Given the description of an element on the screen output the (x, y) to click on. 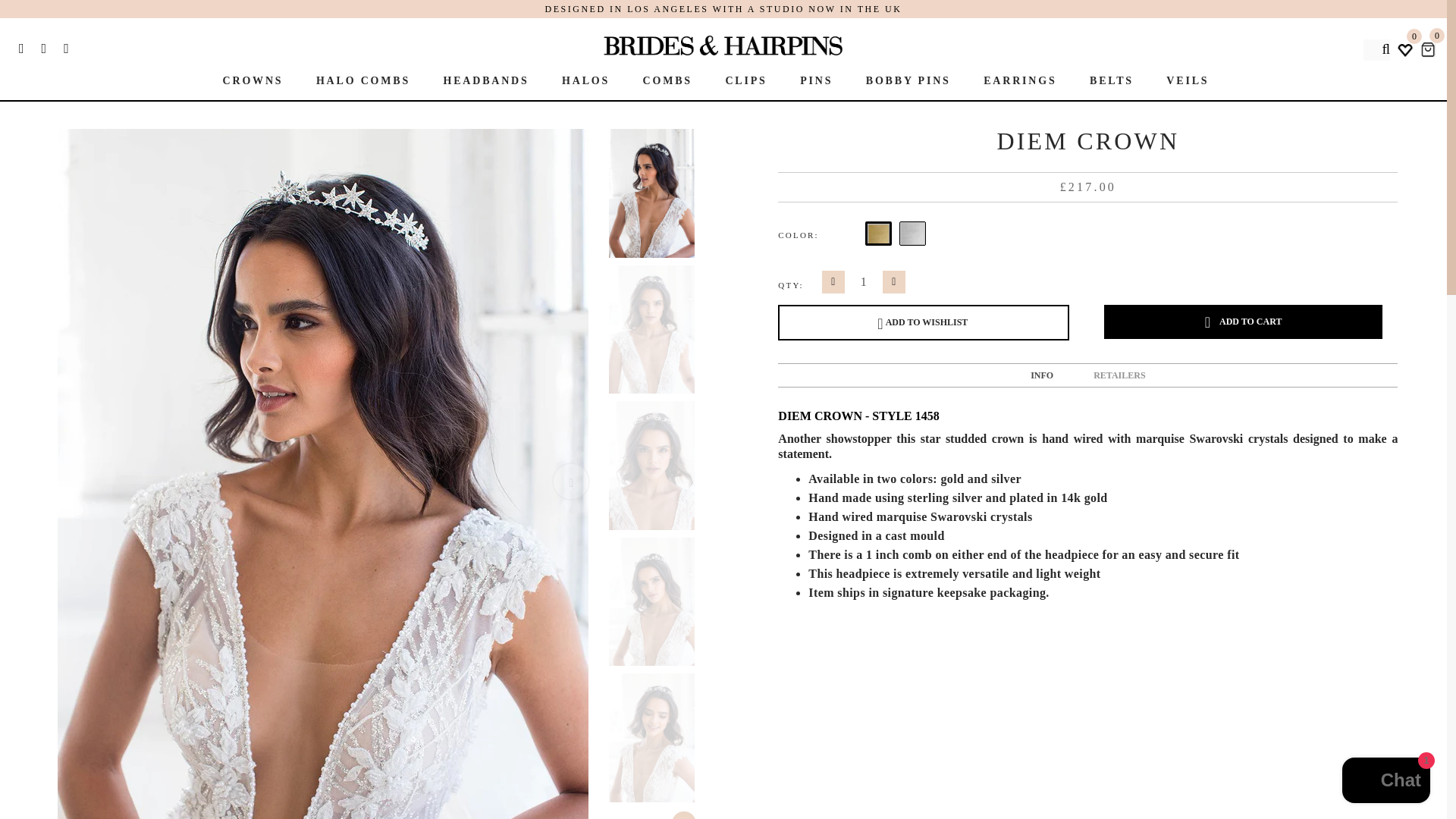
1 (863, 282)
